Given the description of an element on the screen output the (x, y) to click on. 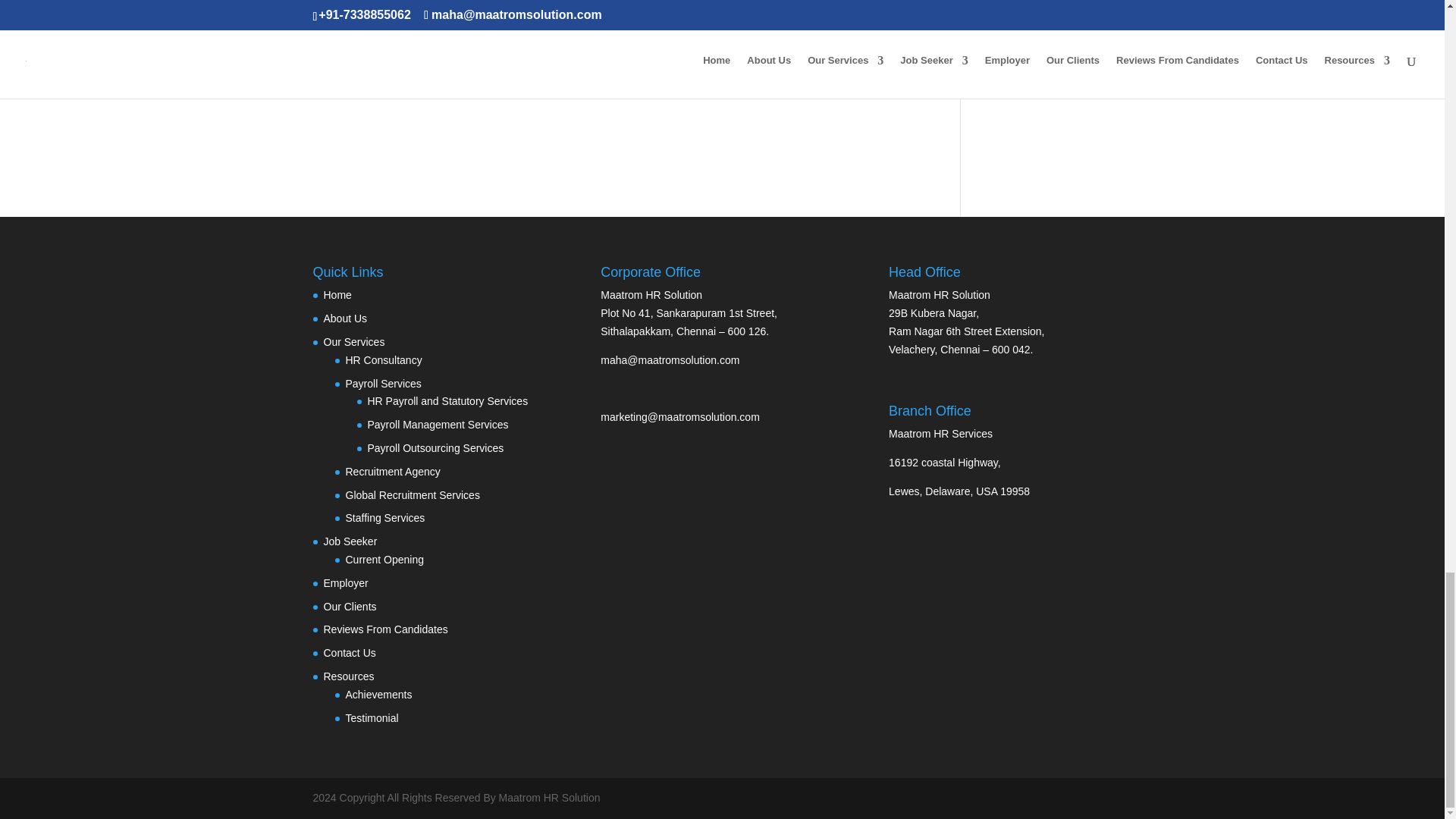
Our Services (353, 341)
yes (319, 37)
HR Consultancy (384, 359)
Submit Comment (840, 77)
About Us (344, 318)
Home (336, 295)
Submit Comment (840, 77)
